Given the description of an element on the screen output the (x, y) to click on. 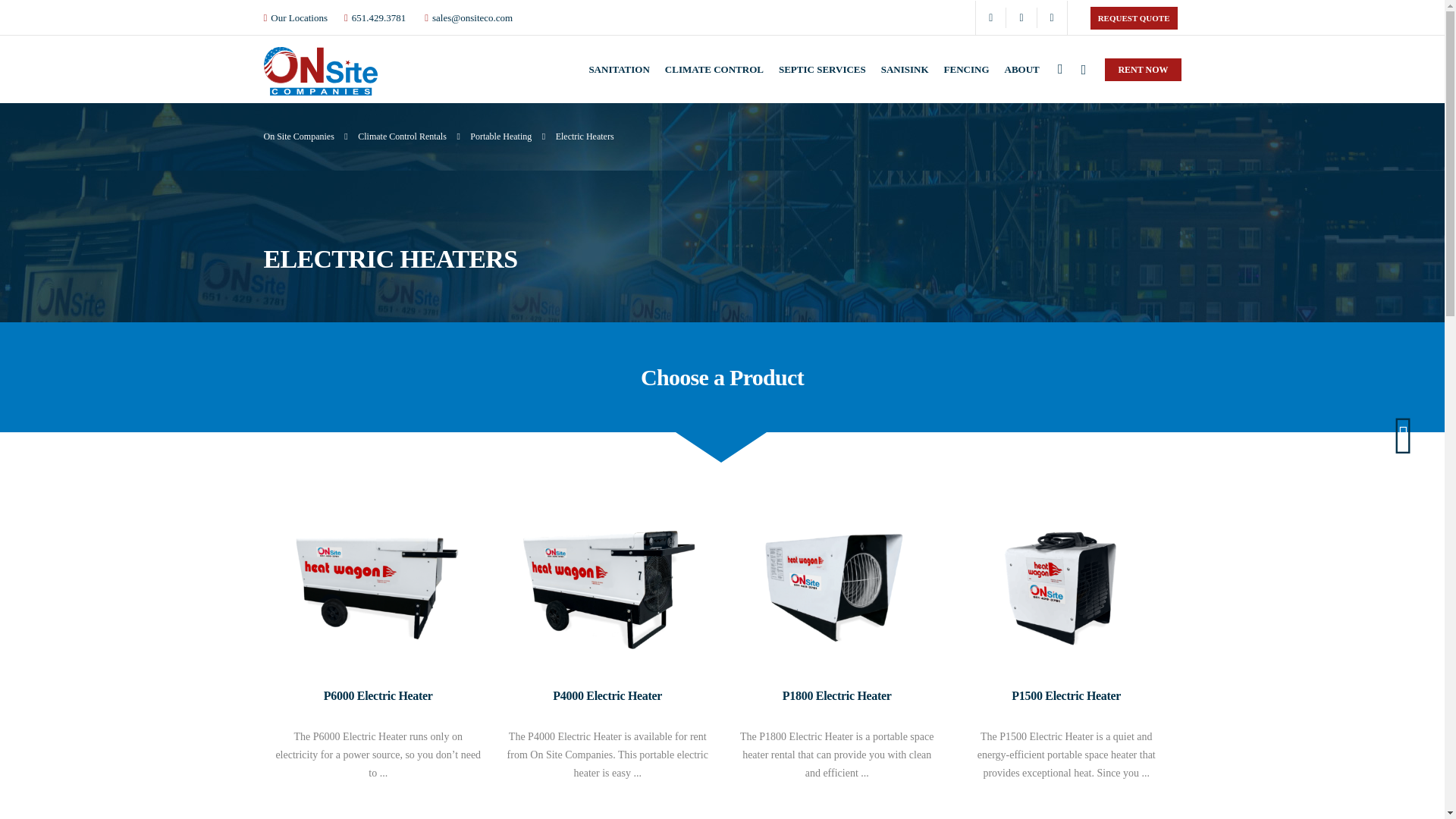
Climate Control Rentals in Duluth, MN (713, 68)
On Site Companies On Instagram (1051, 17)
Our Locations (298, 17)
Sanitation (618, 68)
Request Quote (1133, 16)
On Site Companies On Linkedin (1021, 17)
On Site Companies On Facebook (990, 17)
